Given the description of an element on the screen output the (x, y) to click on. 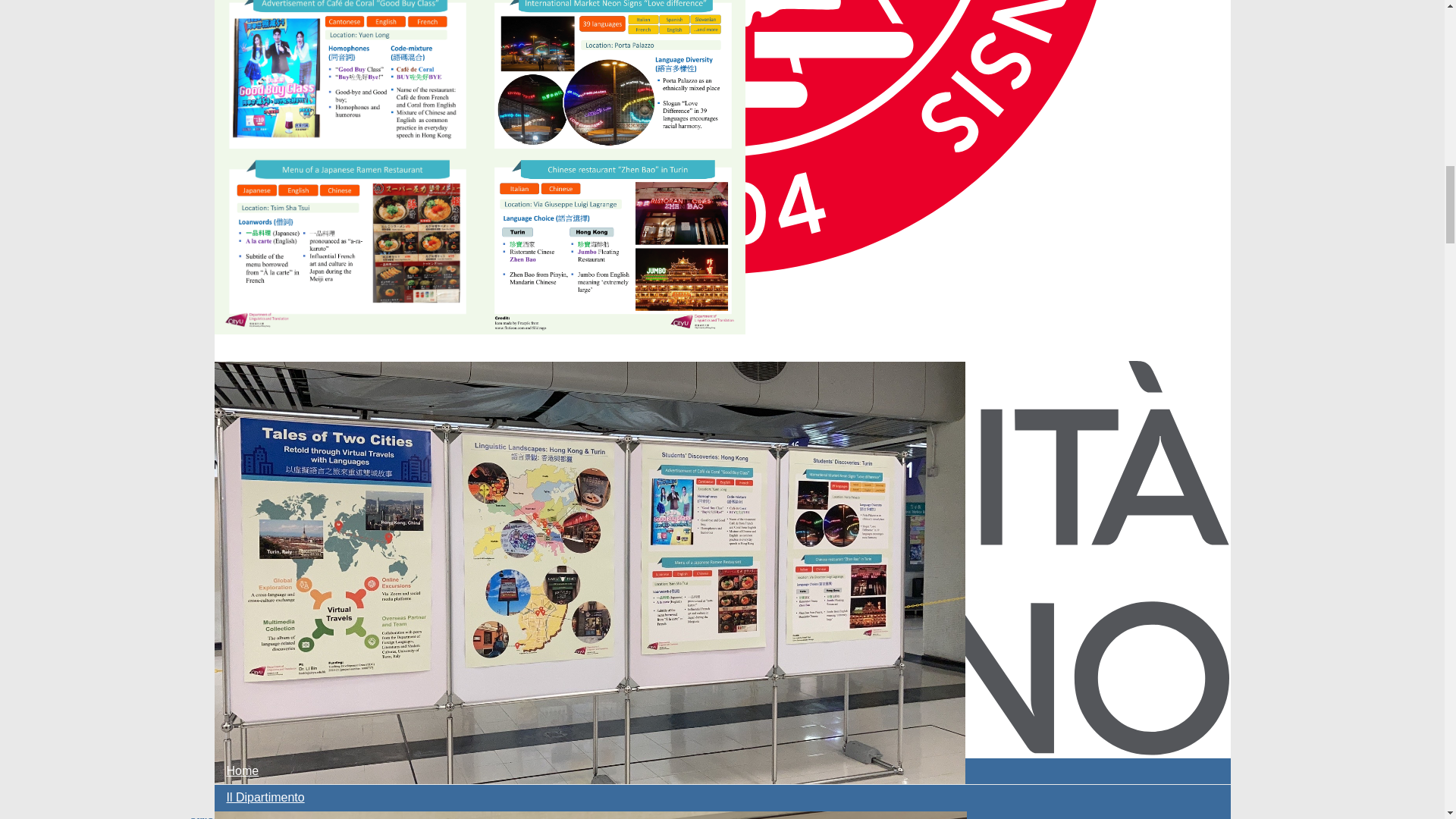
Home (722, 770)
Il Dipartimento (722, 797)
